Given the description of an element on the screen output the (x, y) to click on. 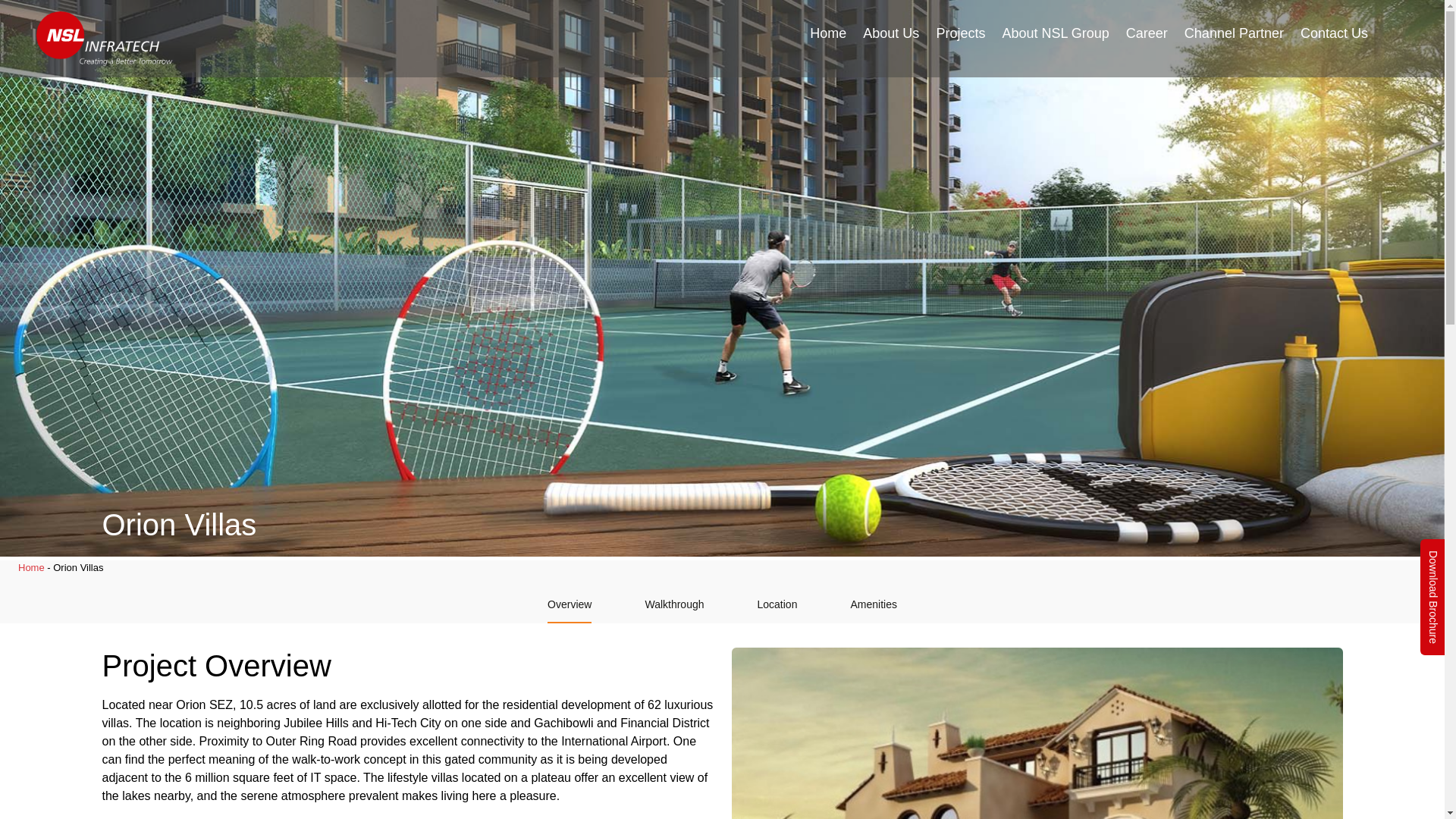
Channel Partner (1233, 33)
Location (777, 605)
Contact Us (1334, 33)
Home (828, 33)
Career (1147, 33)
Walkthrough (674, 605)
Home (31, 567)
About Us (891, 33)
About NSL Group (1054, 33)
Amenities (873, 605)
